Given the description of an element on the screen output the (x, y) to click on. 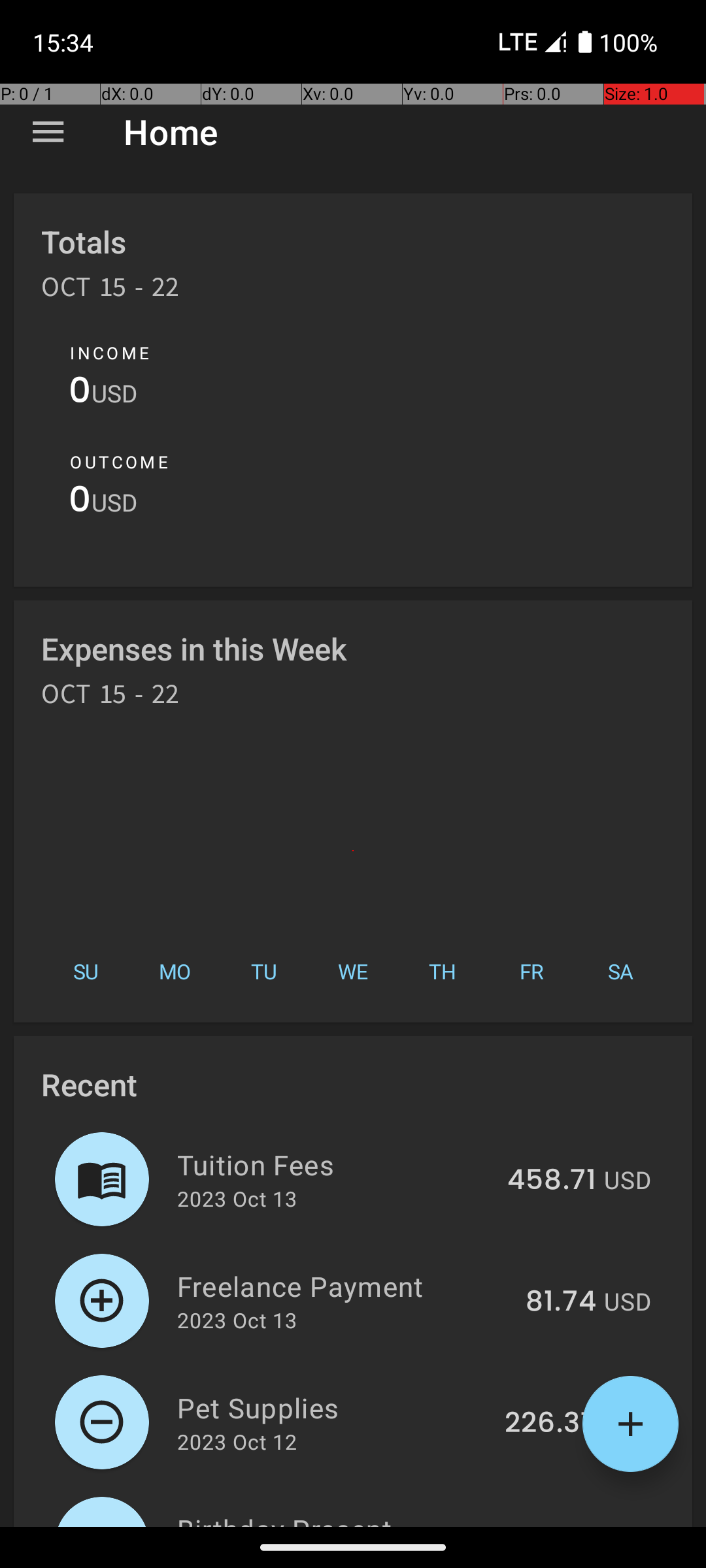
Tuition Fees Element type: android.widget.TextView (334, 1164)
458.71 Element type: android.widget.TextView (551, 1180)
81.74 Element type: android.widget.TextView (560, 1301)
Pet Supplies Element type: android.widget.TextView (333, 1407)
226.37 Element type: android.widget.TextView (550, 1423)
Birthday Present Element type: android.widget.TextView (335, 1518)
139.74 Element type: android.widget.TextView (551, 1524)
